Given the description of an element on the screen output the (x, y) to click on. 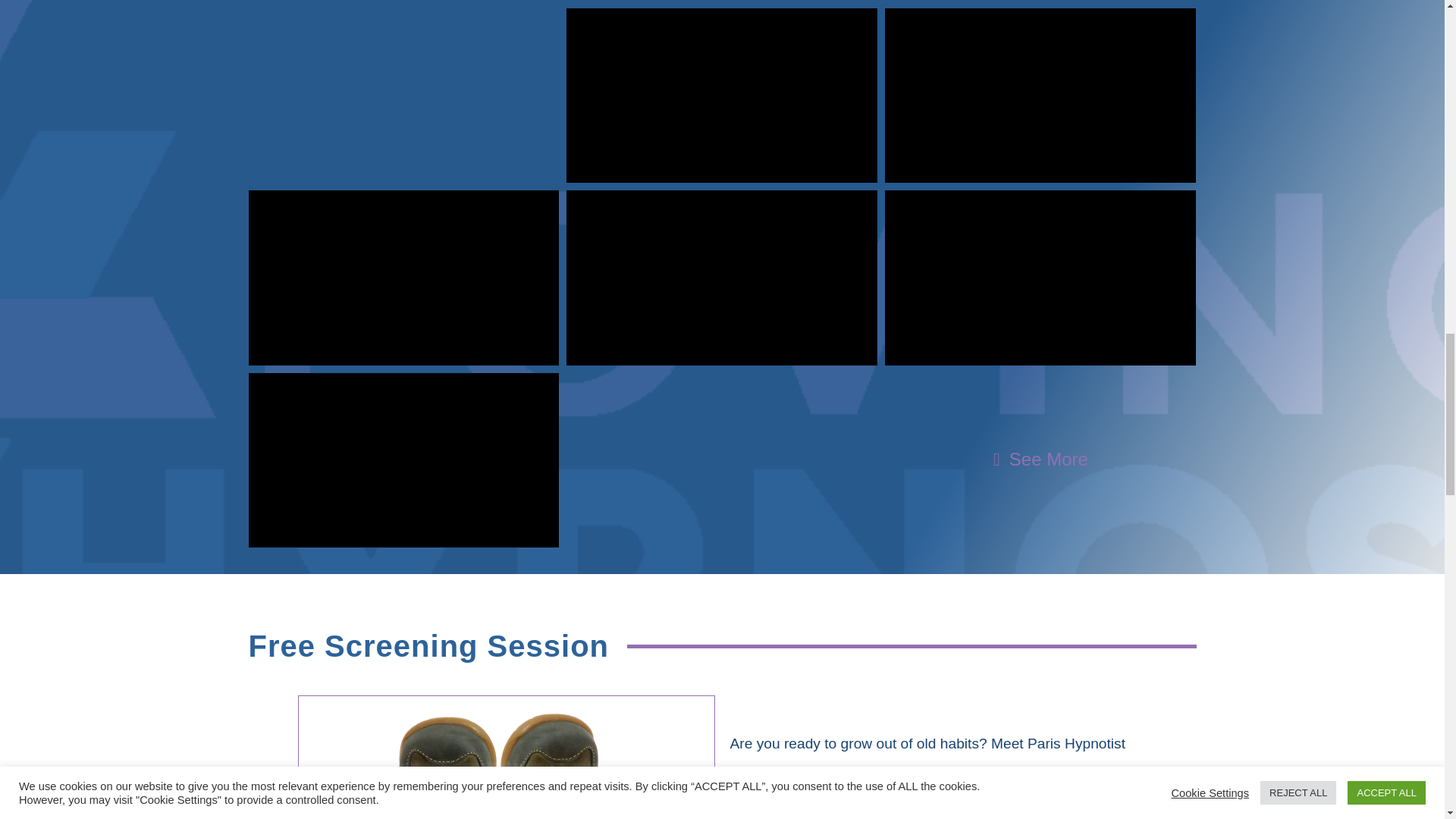
vimeo Video Player (721, 277)
youtube Video Player (403, 460)
vimeo Video Player (1040, 95)
youtube Video Player (403, 277)
vimeo Video Player (721, 95)
vimeo Video Player (1040, 277)
